Given the description of an element on the screen output the (x, y) to click on. 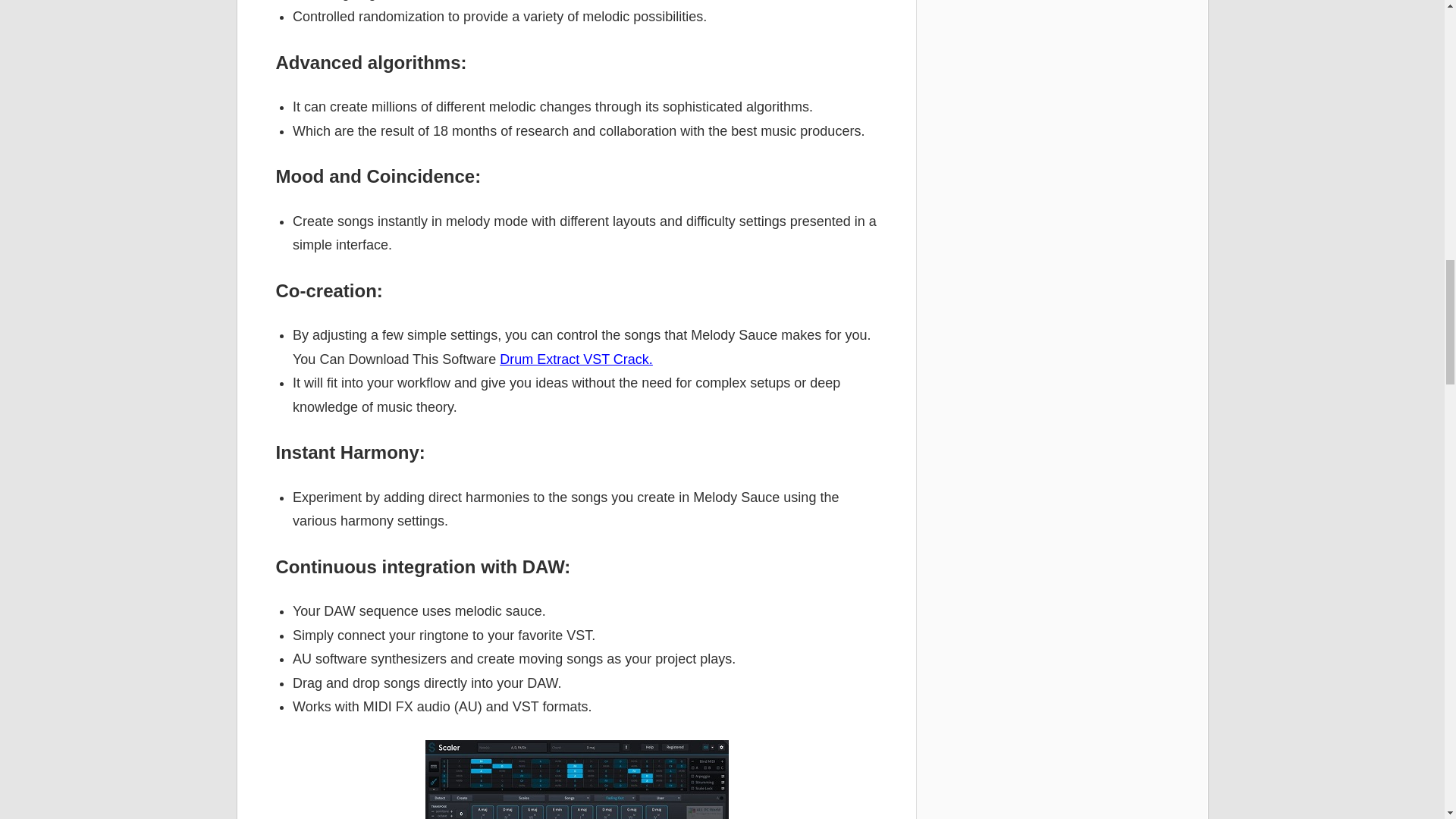
Drum Extract VST Crack. (575, 359)
